Given the description of an element on the screen output the (x, y) to click on. 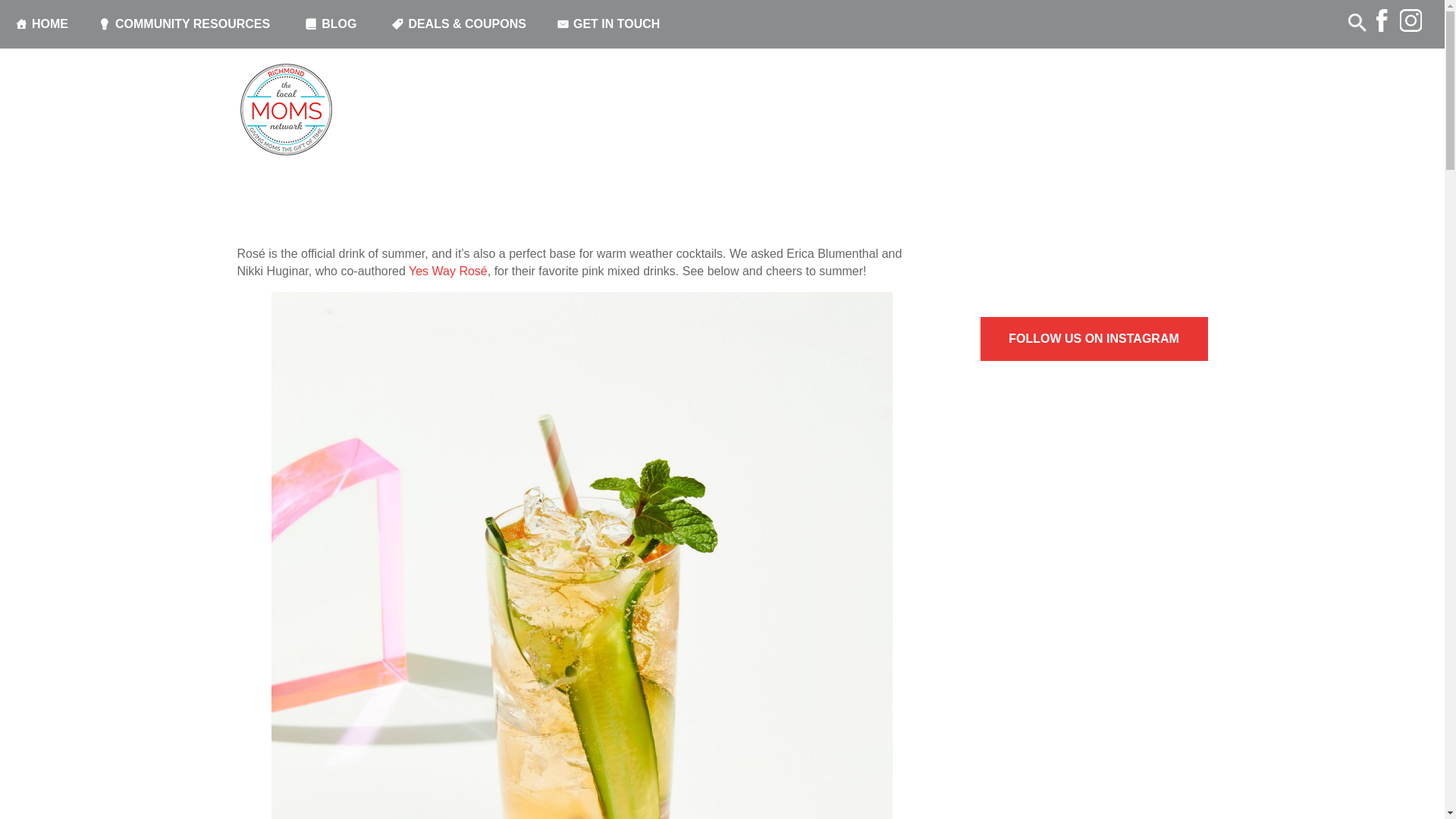
Seasonal (427, 148)
GET IN TOUCH (610, 24)
BLOG (332, 24)
HOME (41, 24)
3rd party ad content (1093, 199)
COMMUNITY RESOURCES (185, 24)
Blog (318, 148)
Search (34, 13)
